Given the description of an element on the screen output the (x, y) to click on. 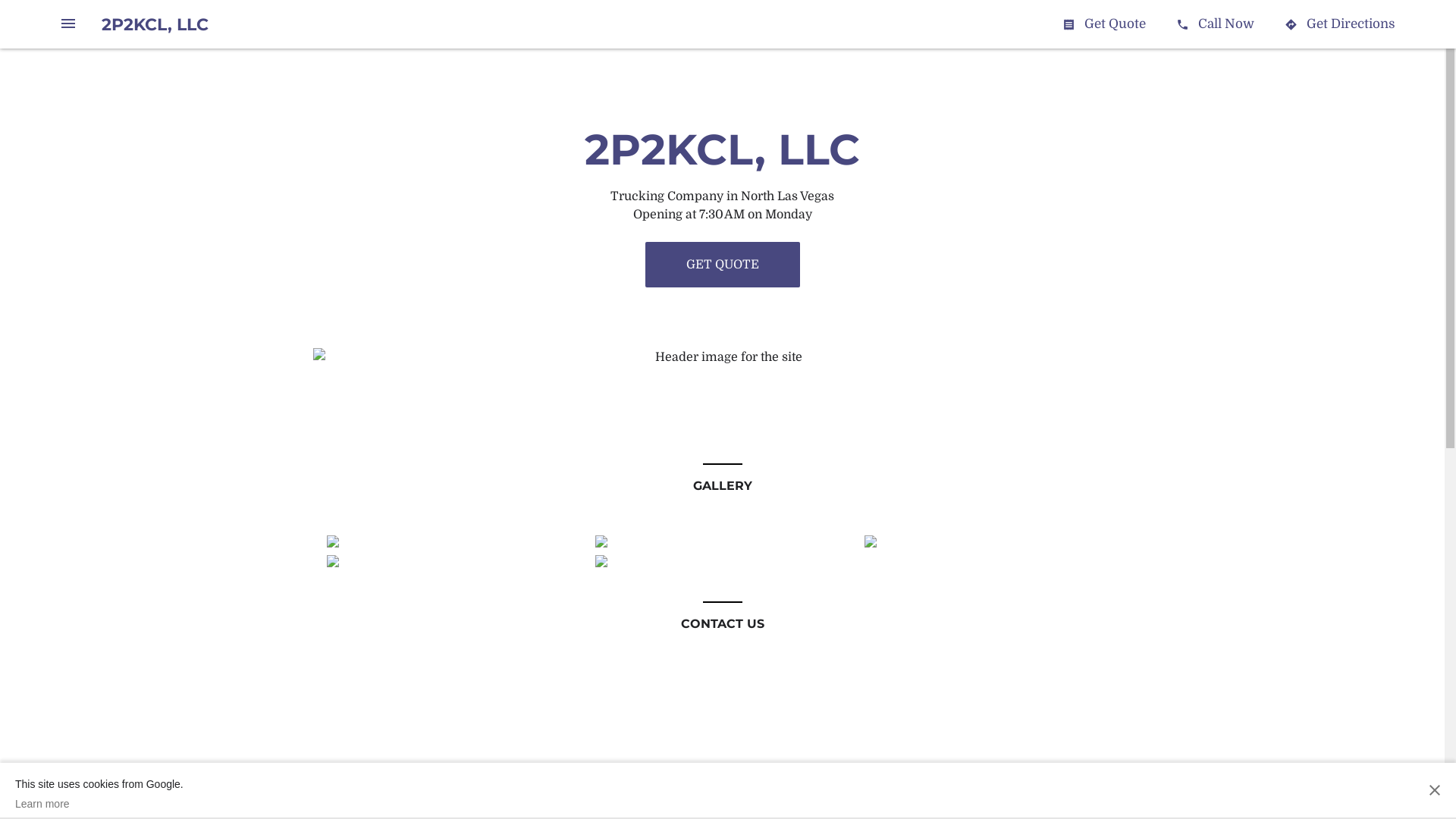
Learn more Element type: text (99, 803)
GET QUOTE Element type: text (721, 264)
2P2KCL, LLC Element type: text (154, 23)
